Given the description of an element on the screen output the (x, y) to click on. 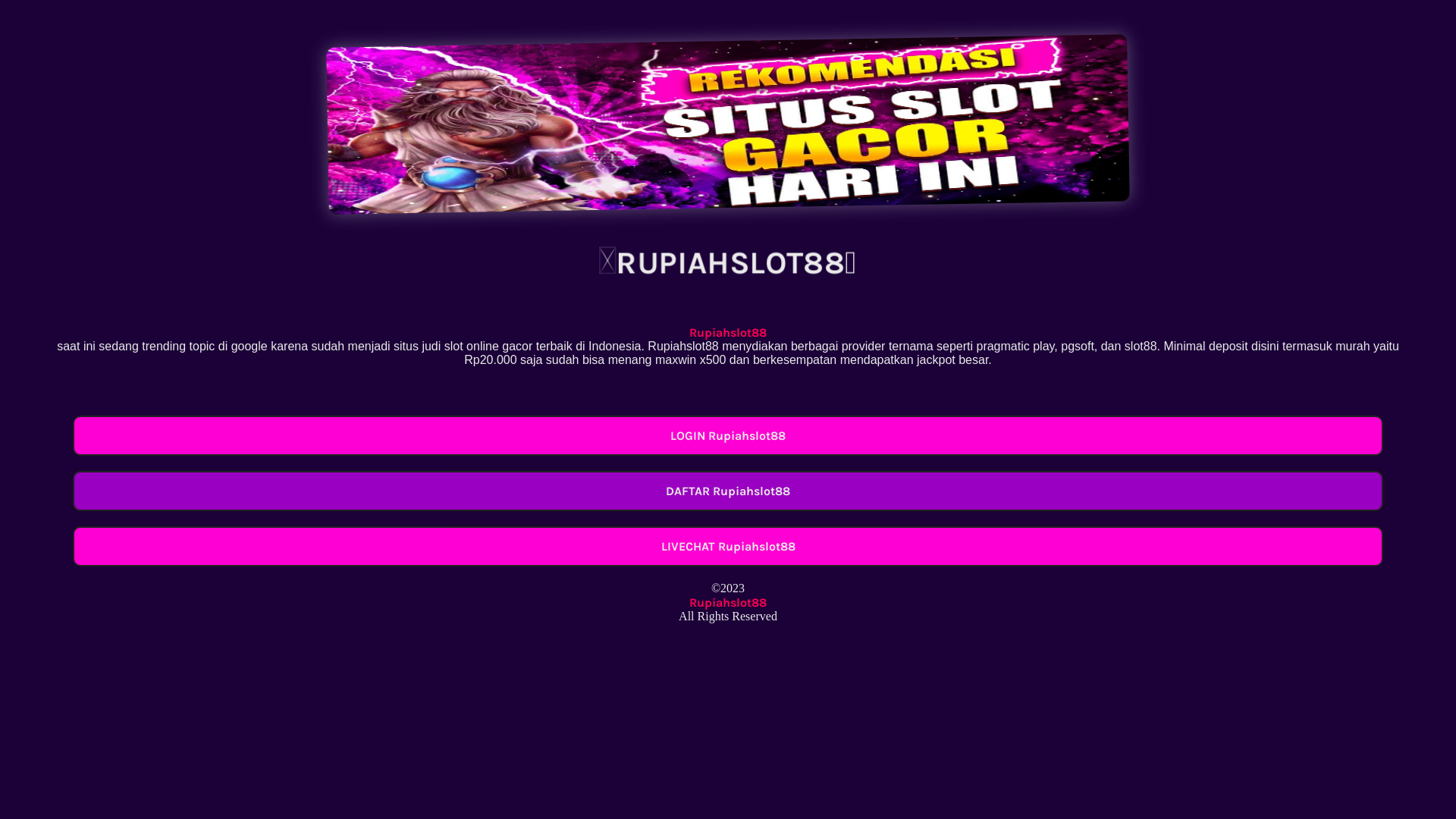
DAFTAR Rupiahslot88 Element type: text (727, 490)
Rupiahslot88 Element type: text (727, 332)
LIVECHAT Rupiahslot88 Element type: text (727, 546)
LOGIN Rupiahslot88 Element type: text (727, 435)
